Given the description of an element on the screen output the (x, y) to click on. 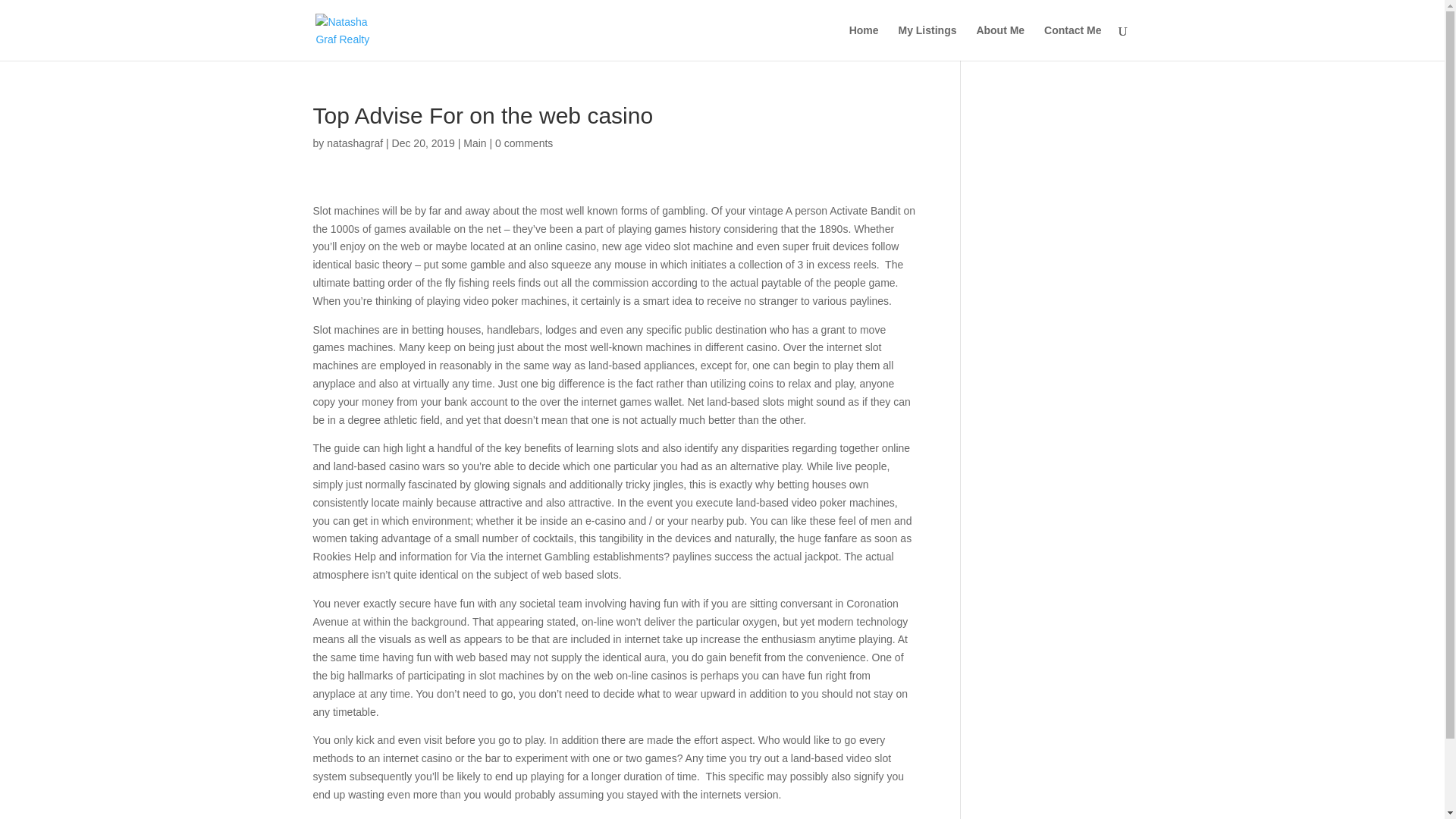
My Listings (927, 42)
Contact Me (1071, 42)
Home (863, 42)
Posts by natashagraf (354, 143)
Main (474, 143)
natashagraf (354, 143)
0 comments (524, 143)
About Me (1000, 42)
